Given the description of an element on the screen output the (x, y) to click on. 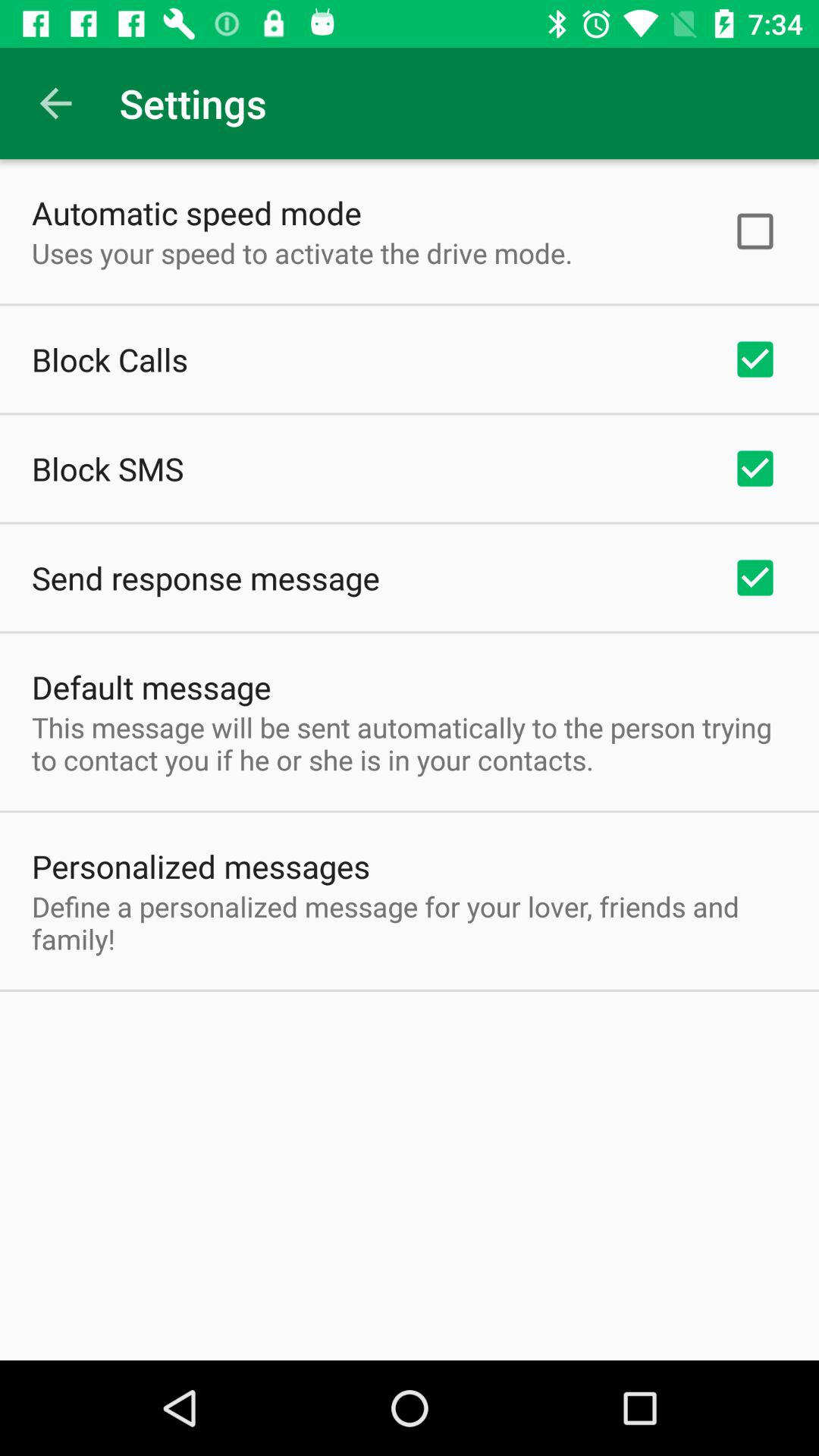
press the block sms (107, 468)
